Given the description of an element on the screen output the (x, y) to click on. 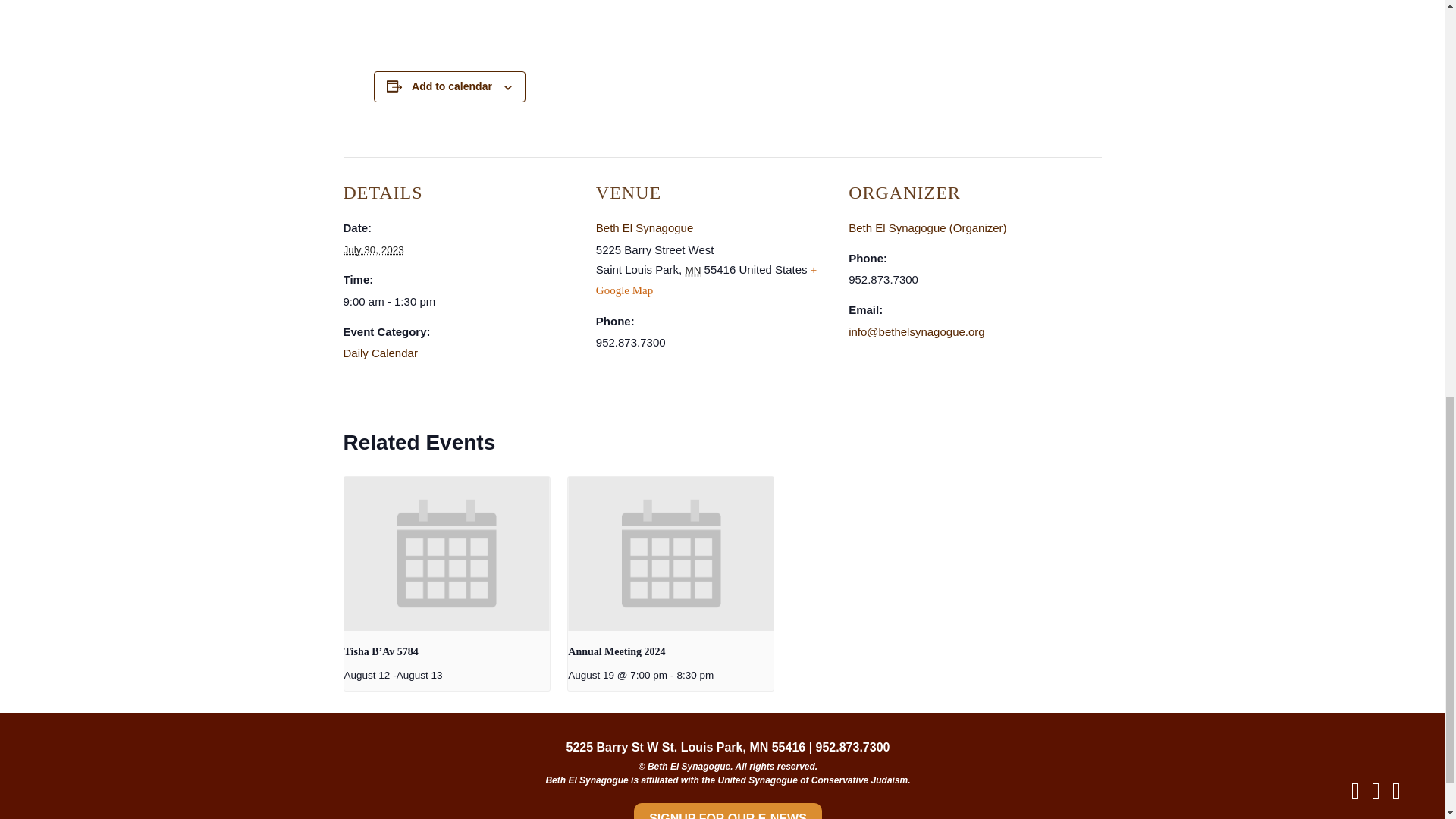
Minnesota (692, 270)
2023-07-30 (372, 250)
2023-07-30 (459, 301)
Click to view a Google Map (705, 279)
